Given the description of an element on the screen output the (x, y) to click on. 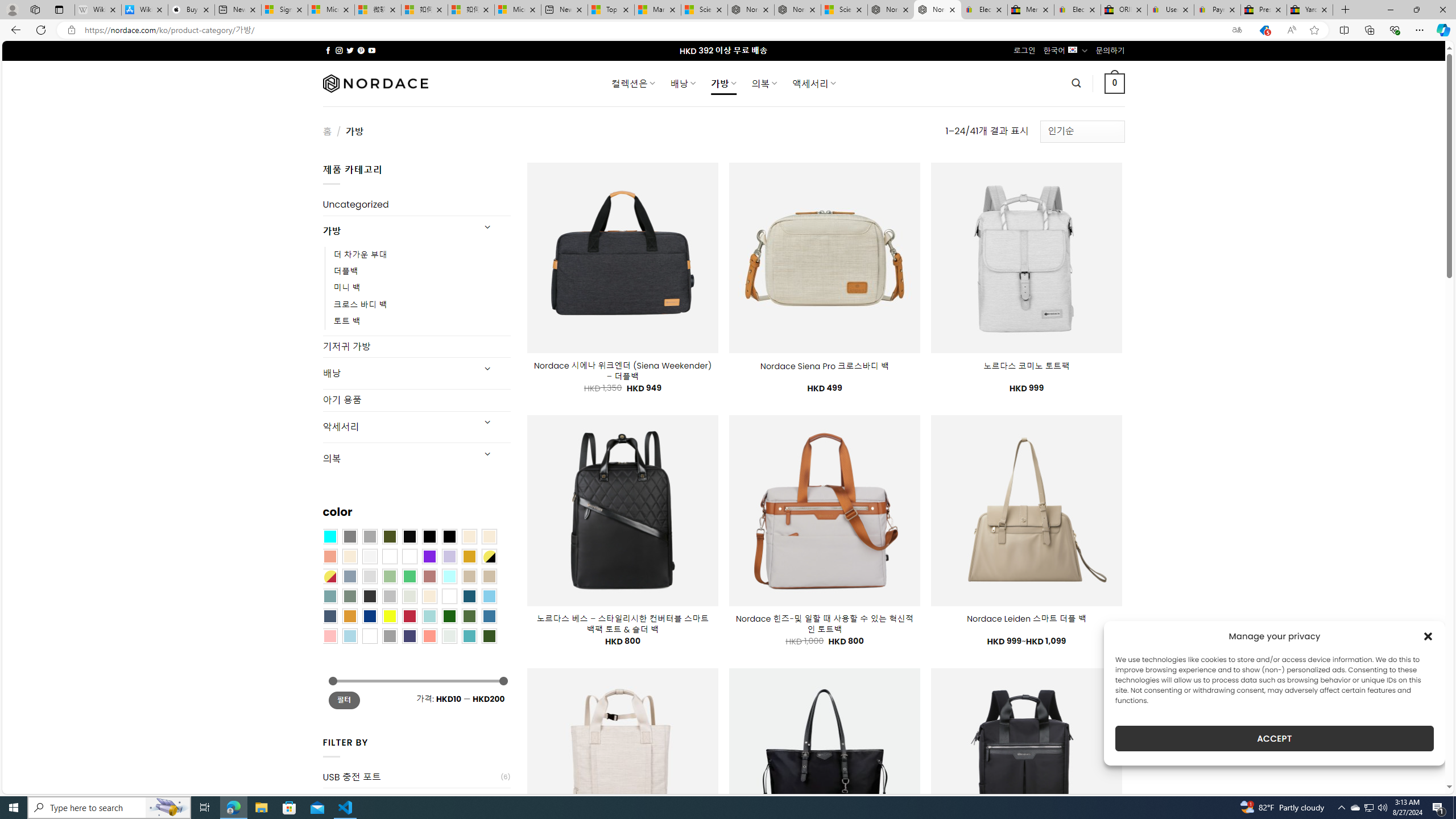
Show translate options (1236, 29)
